Given the description of an element on the screen output the (x, y) to click on. 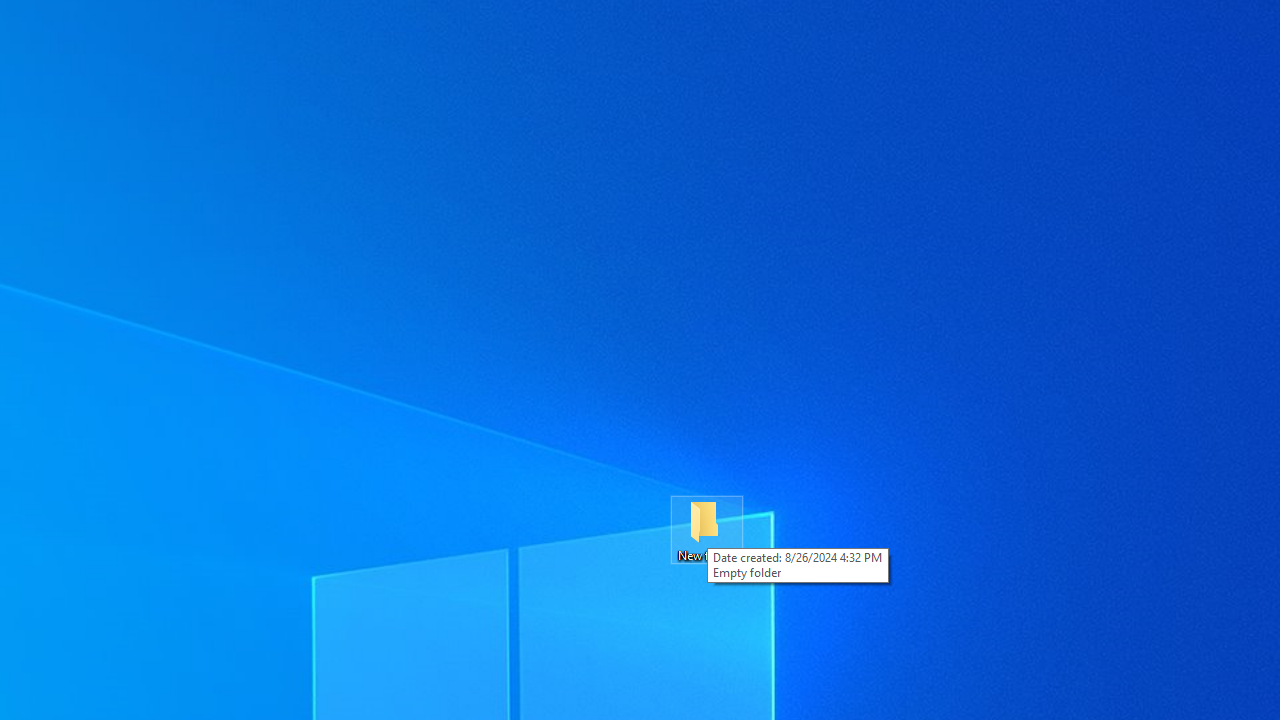
New folder (706, 530)
